Given the description of an element on the screen output the (x, y) to click on. 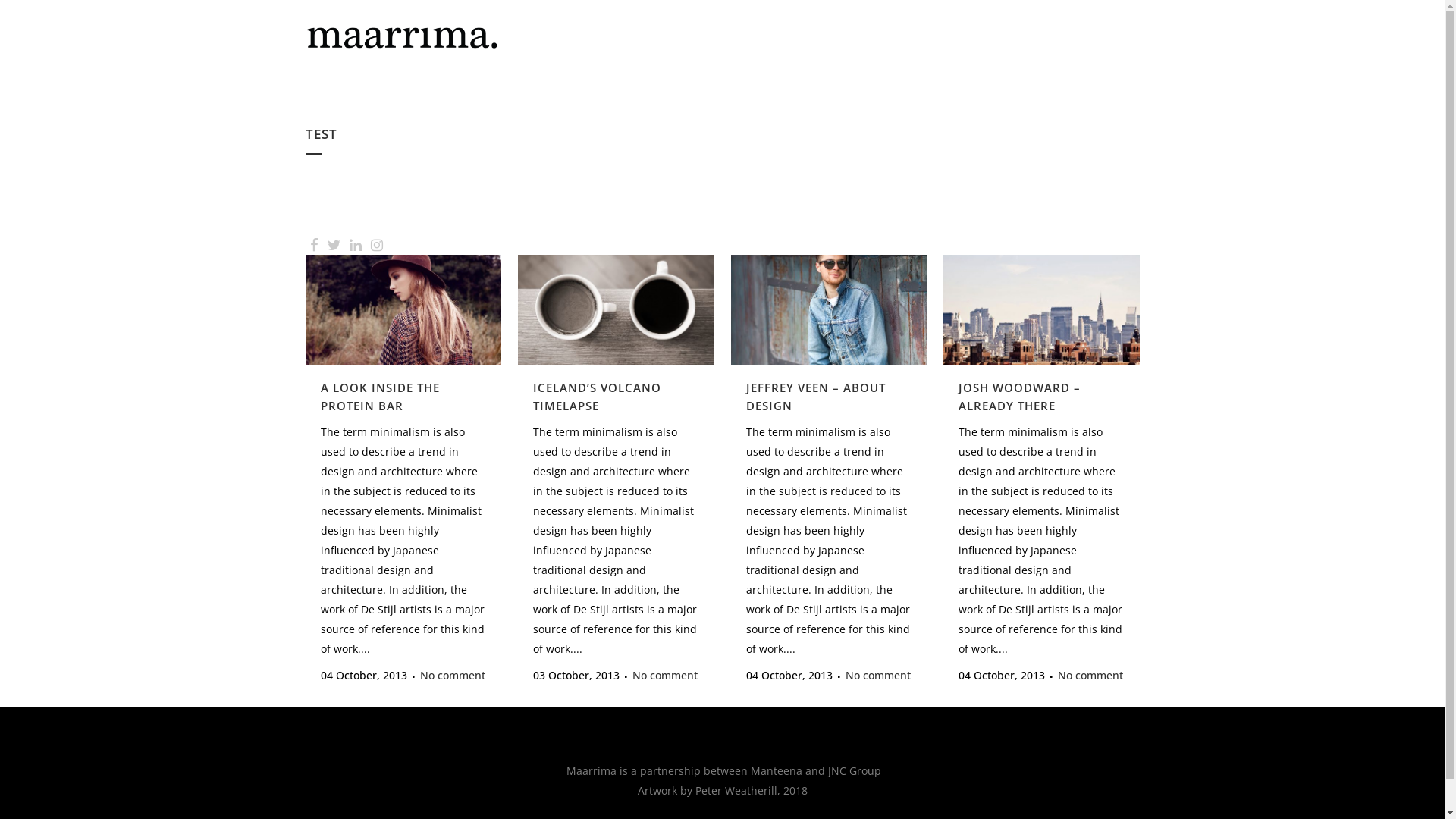
No comment Element type: text (877, 675)
No comment Element type: text (664, 675)
No comment Element type: text (452, 675)
No comment Element type: text (1090, 675)
A LOOK INSIDE THE PROTEIN BAR Element type: text (379, 396)
